Given the description of an element on the screen output the (x, y) to click on. 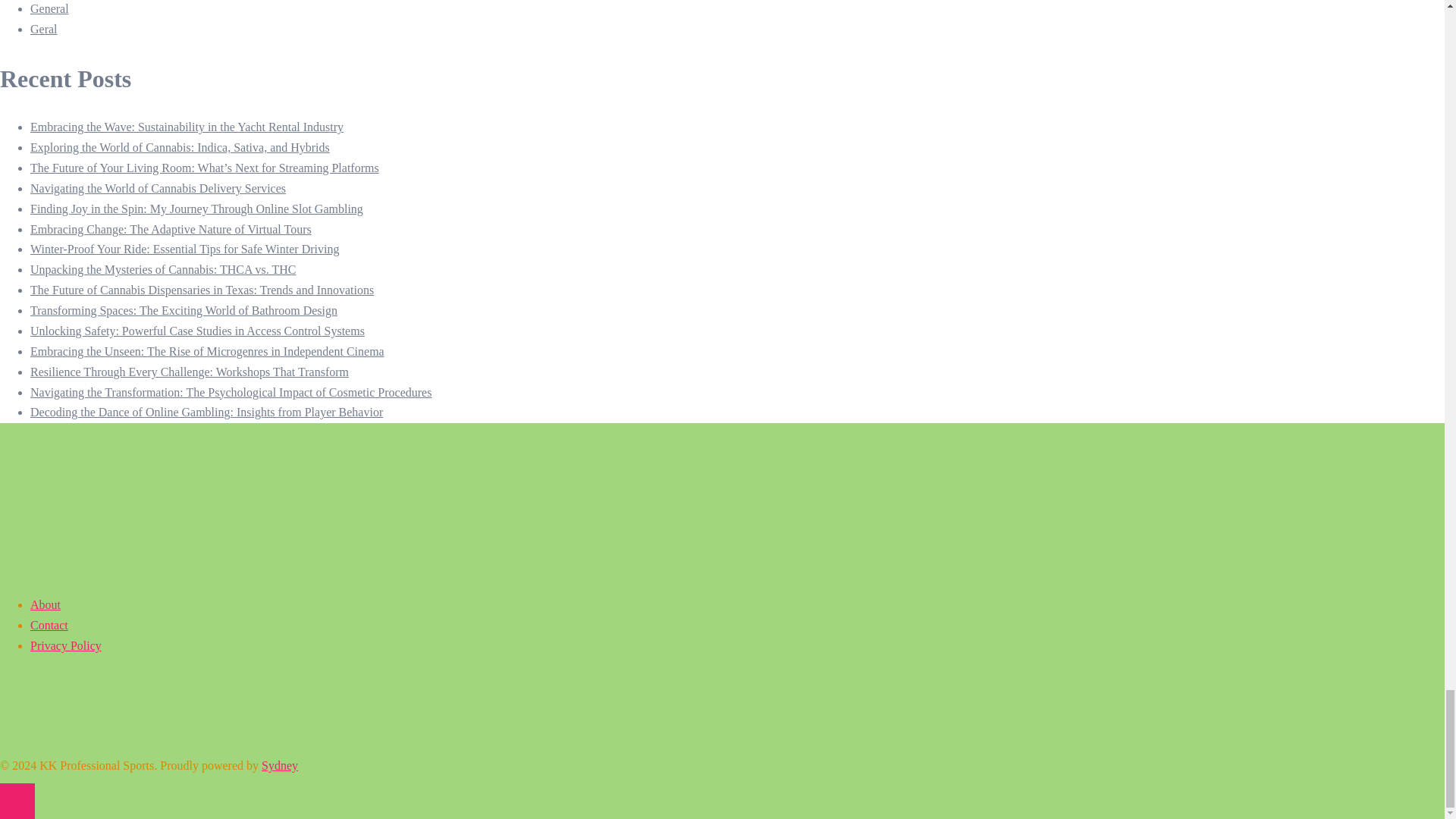
Contact (49, 625)
Exploring the World of Cannabis: Indica, Sativa, and Hybrids (180, 146)
Unpacking the Mysteries of Cannabis: THCA vs. THC (163, 269)
Resilience Through Every Challenge: Workshops That Transform (189, 371)
Transforming Spaces: The Exciting World of Bathroom Design (183, 309)
About (45, 604)
Privacy Policy (65, 645)
General (49, 8)
